Given the description of an element on the screen output the (x, y) to click on. 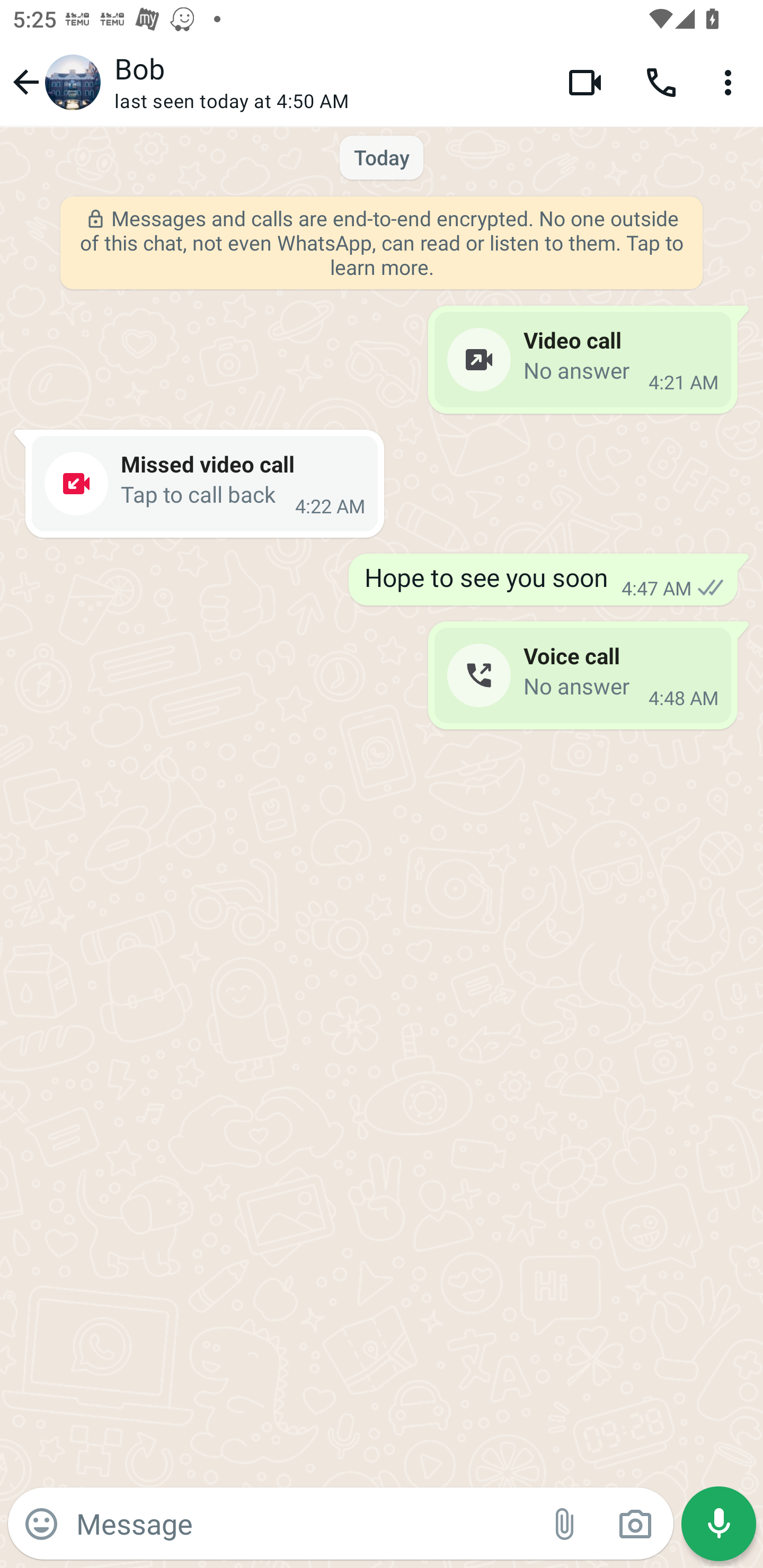
Bob last seen today at 4:50 AM (327, 82)
Navigate up (54, 82)
Video call (585, 81)
Voice call (661, 81)
More options (731, 81)
Emoji (41, 1523)
Attach (565, 1523)
Camera (634, 1523)
Message (303, 1523)
